Given the description of an element on the screen output the (x, y) to click on. 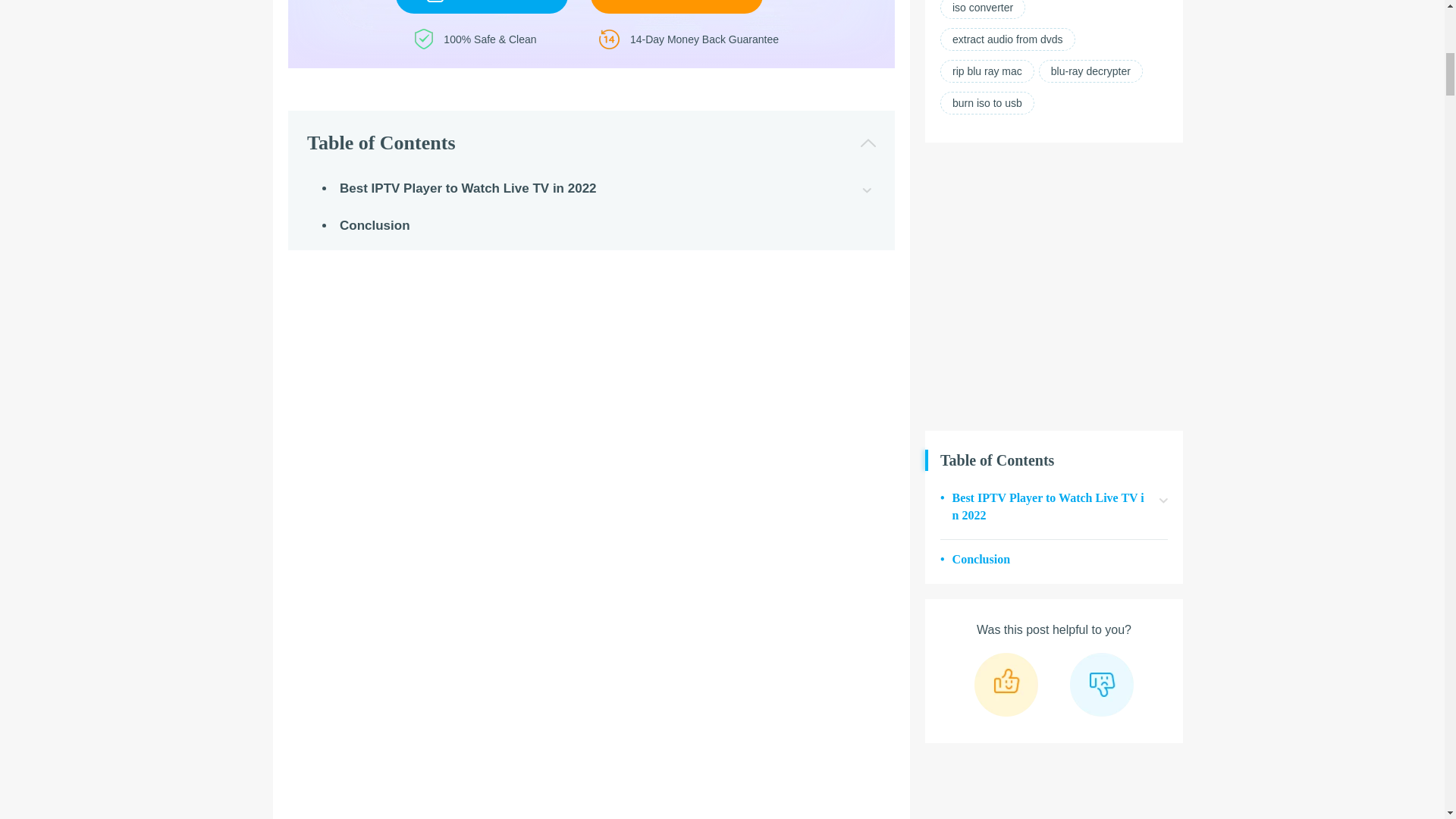
Best IPTV Player to Watch Live TV in 2022 (1053, 508)
Conclusion (1053, 561)
